Given the description of an element on the screen output the (x, y) to click on. 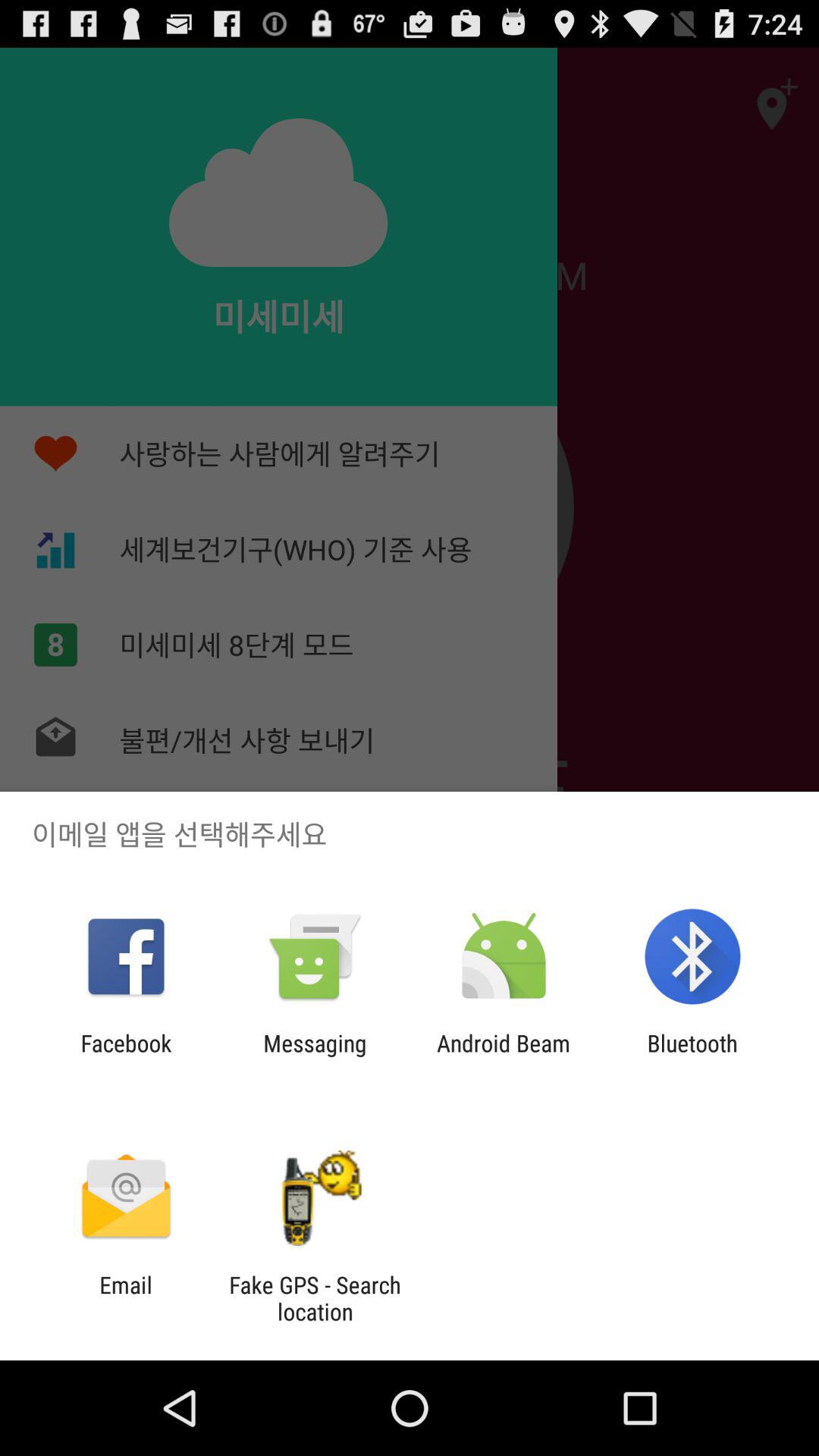
select the item next to the android beam icon (314, 1056)
